Given the description of an element on the screen output the (x, y) to click on. 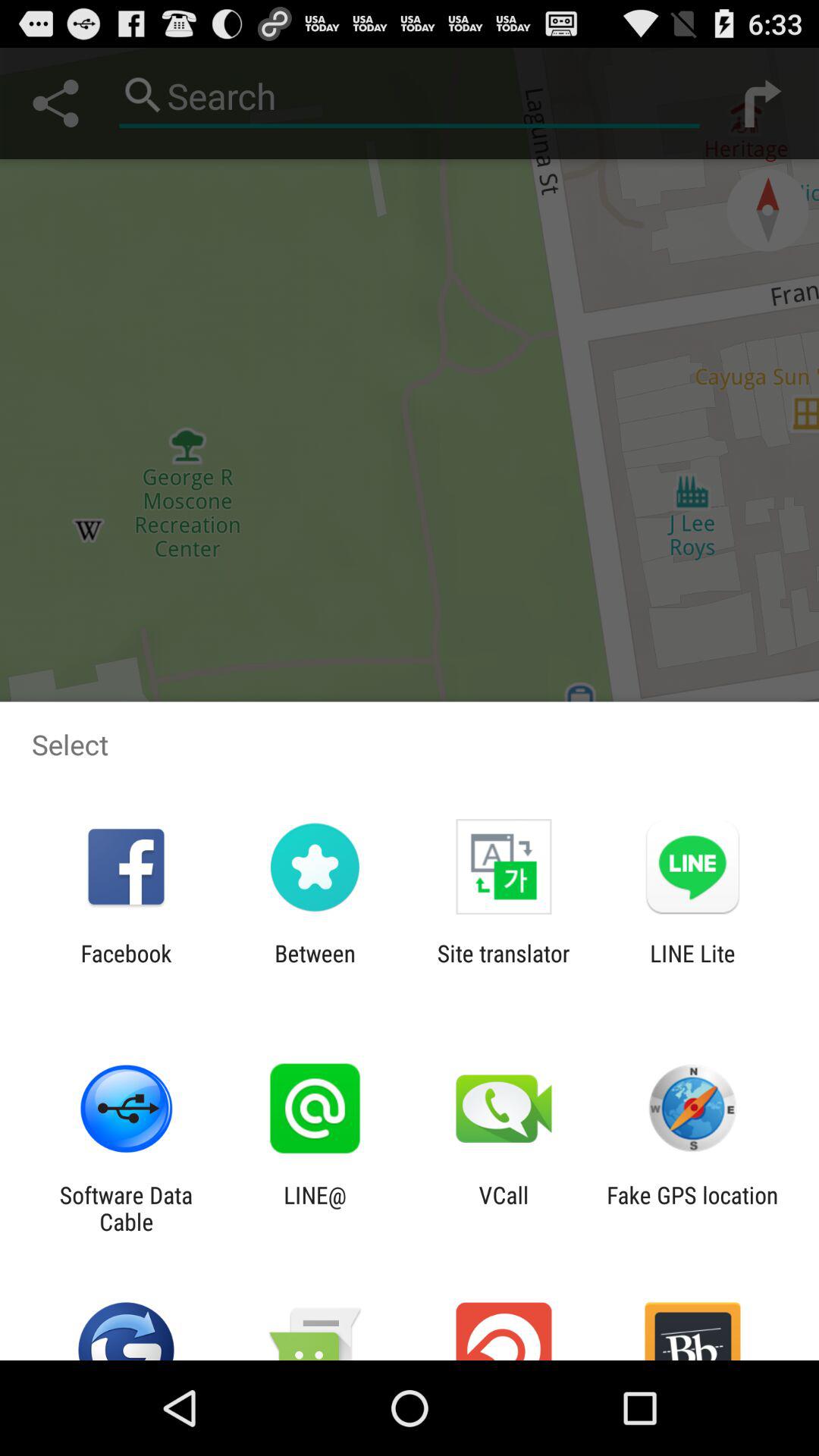
scroll until line lite item (692, 966)
